Given the description of an element on the screen output the (x, y) to click on. 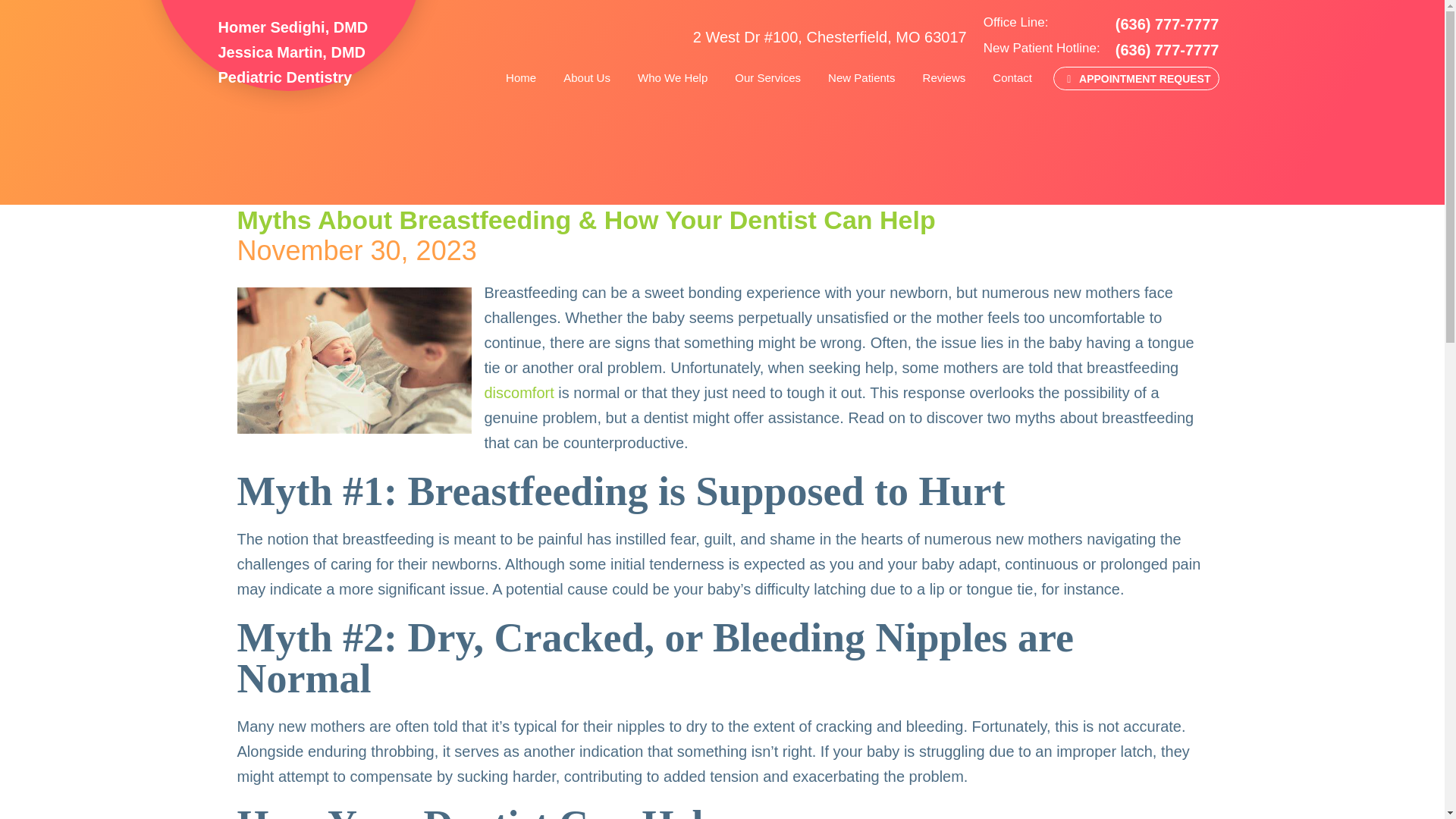
Home (520, 77)
About Us (586, 77)
Our Services (767, 77)
Who We Help (672, 77)
APPOINTMENT REQUEST (1135, 78)
